Given the description of an element on the screen output the (x, y) to click on. 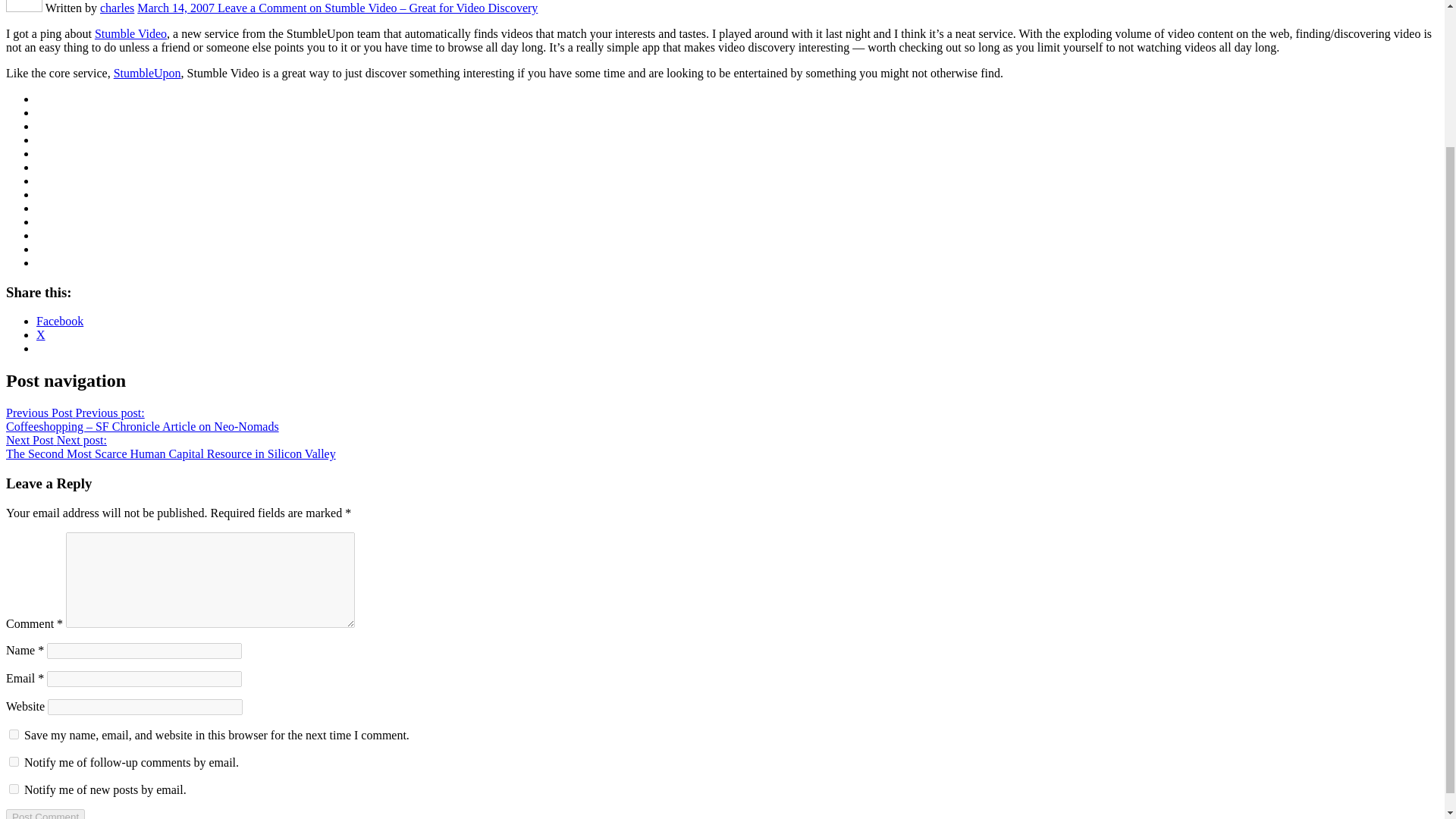
StumbleUpon (146, 72)
X (40, 334)
charles (116, 7)
subscribe (13, 787)
Stumble Video (130, 33)
Click to share on Facebook (59, 320)
subscribe (13, 760)
Click to share on X (40, 334)
Facebook (59, 320)
yes (13, 733)
March 14, 2007 (176, 7)
